Given the description of an element on the screen output the (x, y) to click on. 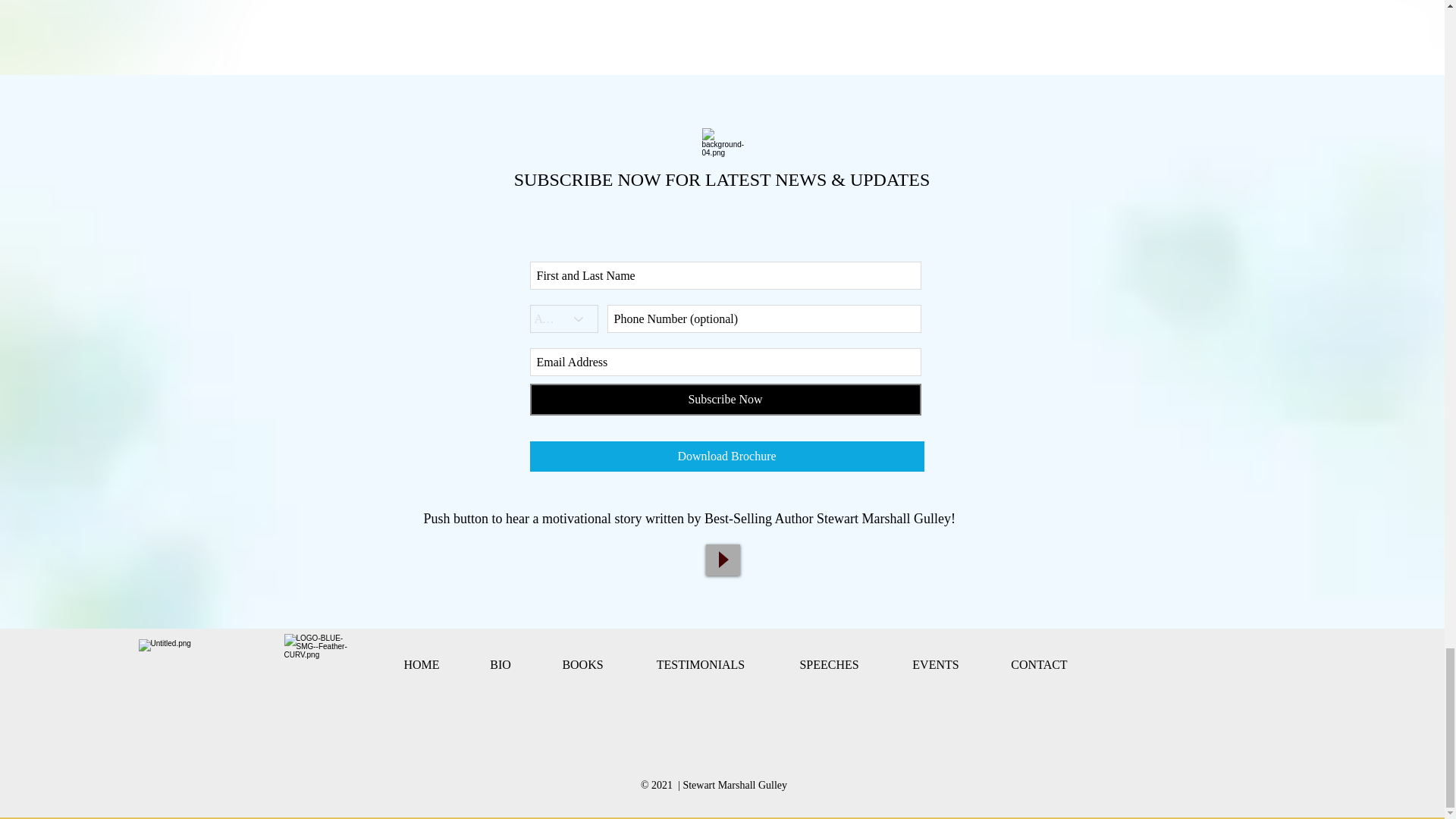
Download Brochure (726, 456)
Subscribe Now (724, 399)
